Given the description of an element on the screen output the (x, y) to click on. 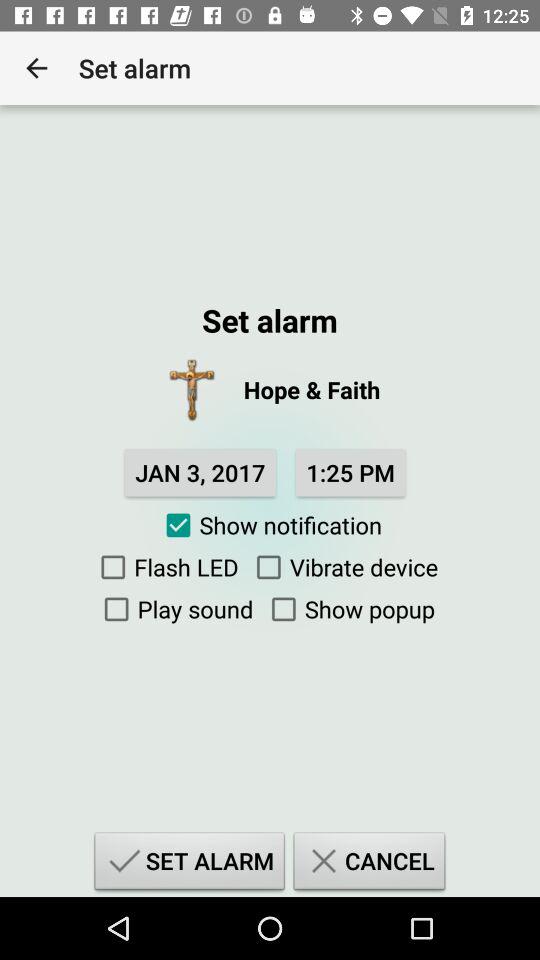
click the icon next to vibrate device item (165, 567)
